Given the description of an element on the screen output the (x, y) to click on. 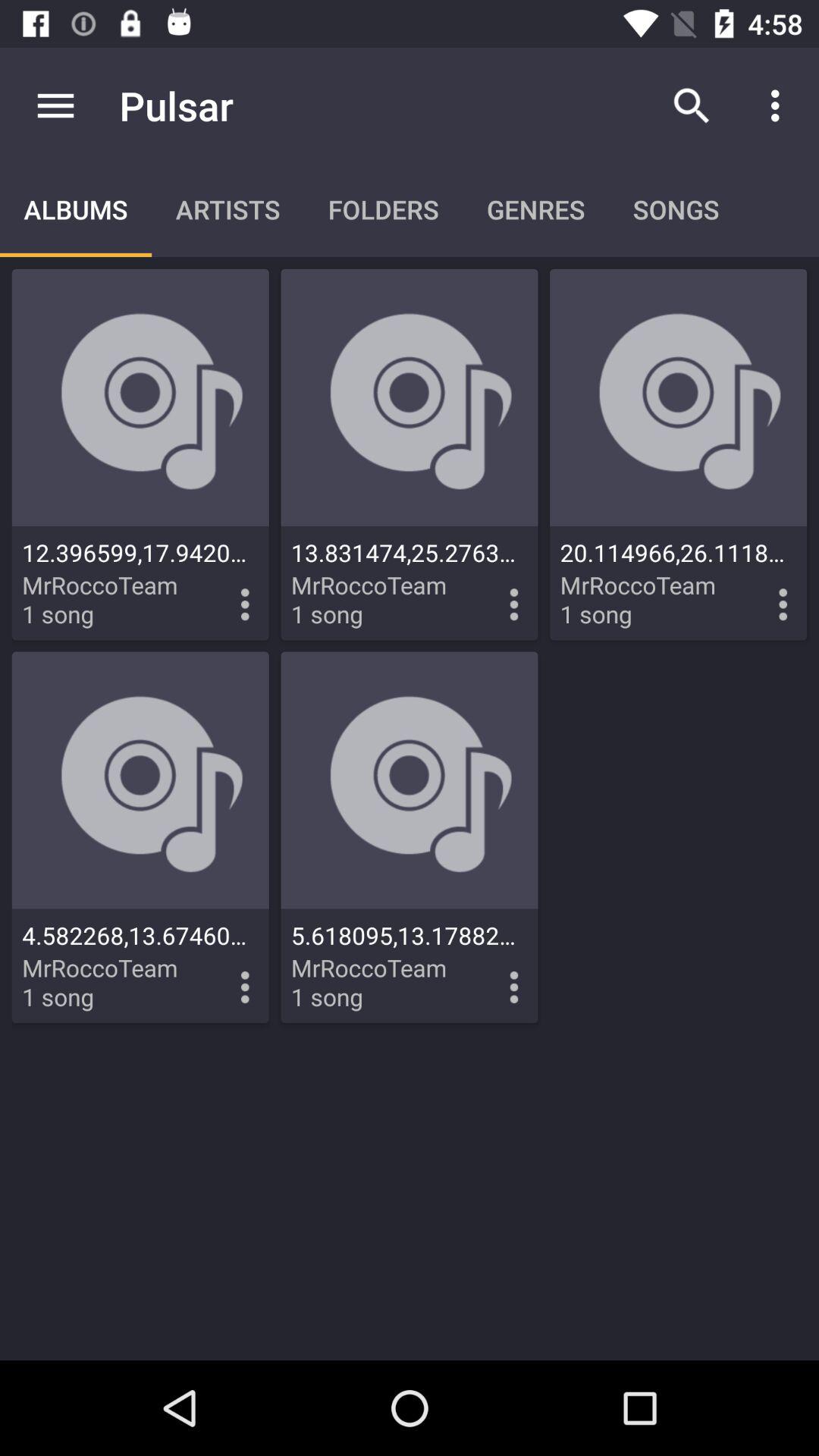
choose the item next to pulsar item (55, 105)
